Given the description of an element on the screen output the (x, y) to click on. 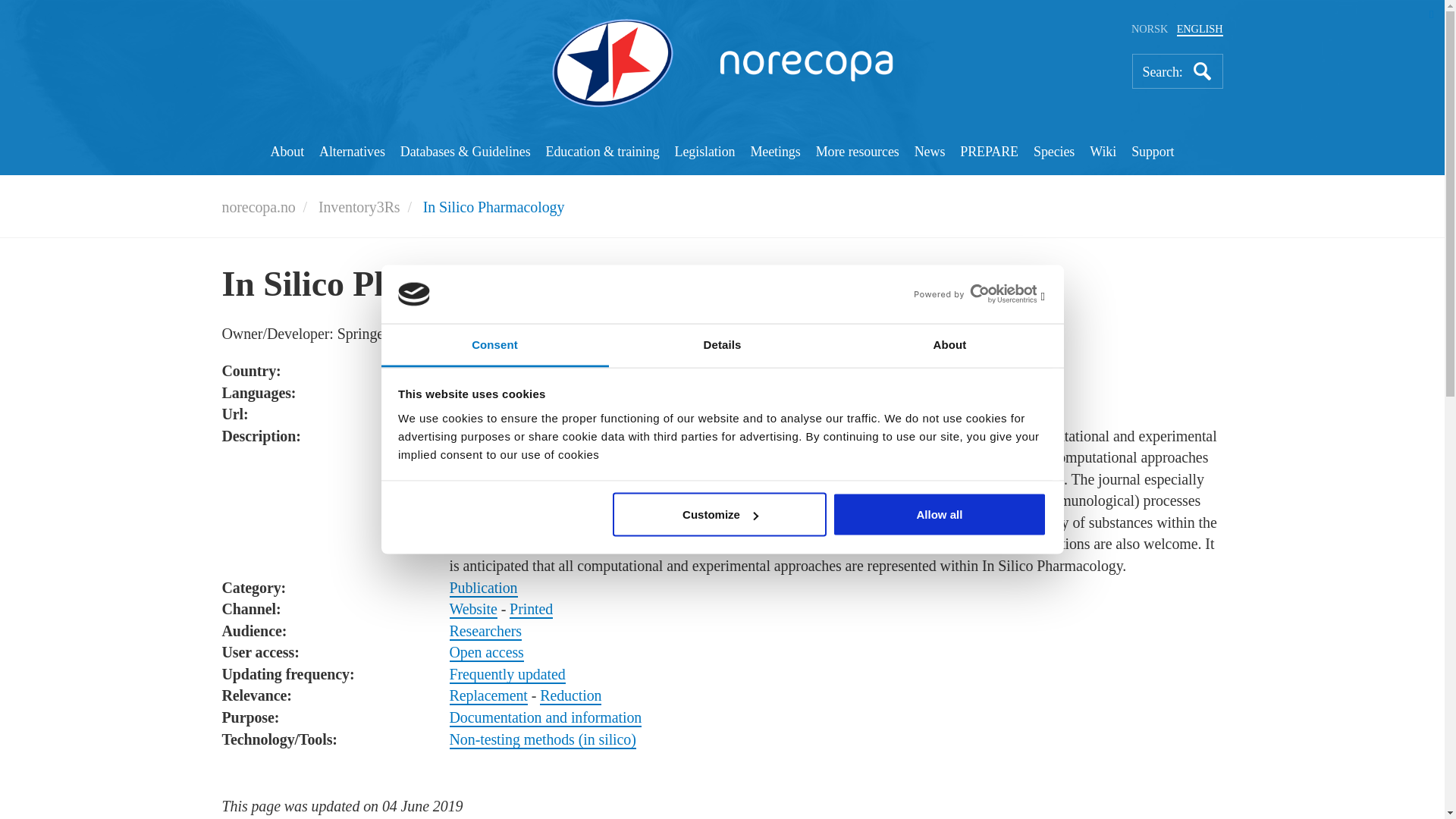
About (948, 344)
Search (1202, 71)
Alternatives (351, 153)
Consent (494, 344)
Logo (722, 63)
Customize (719, 515)
Details (721, 344)
ENGLISH (1199, 29)
NORSK (1149, 28)
Allow all (939, 515)
